Given the description of an element on the screen output the (x, y) to click on. 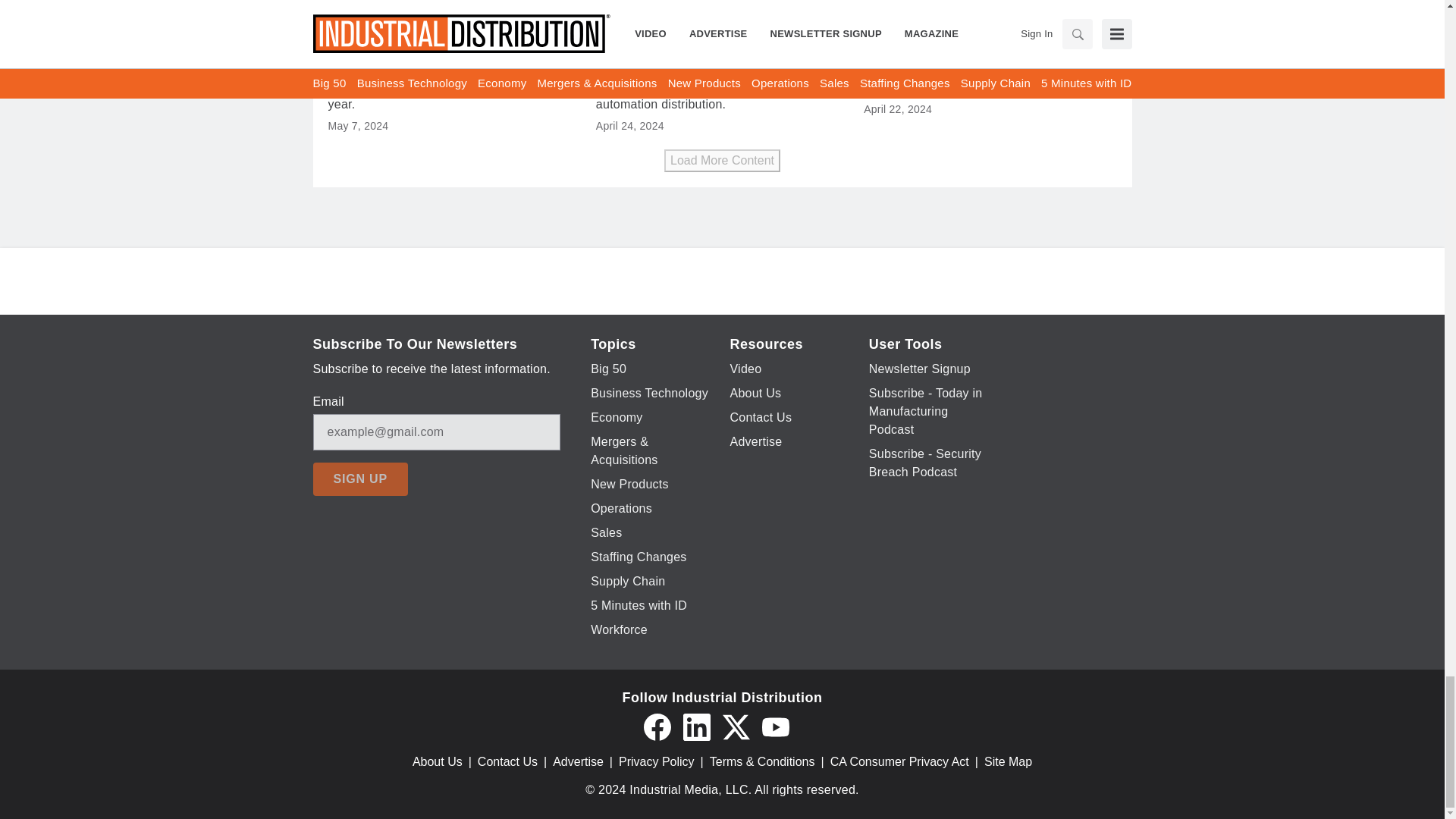
YouTube icon (775, 727)
Twitter X icon (735, 727)
LinkedIn icon (696, 727)
Facebook icon (656, 727)
